Given the description of an element on the screen output the (x, y) to click on. 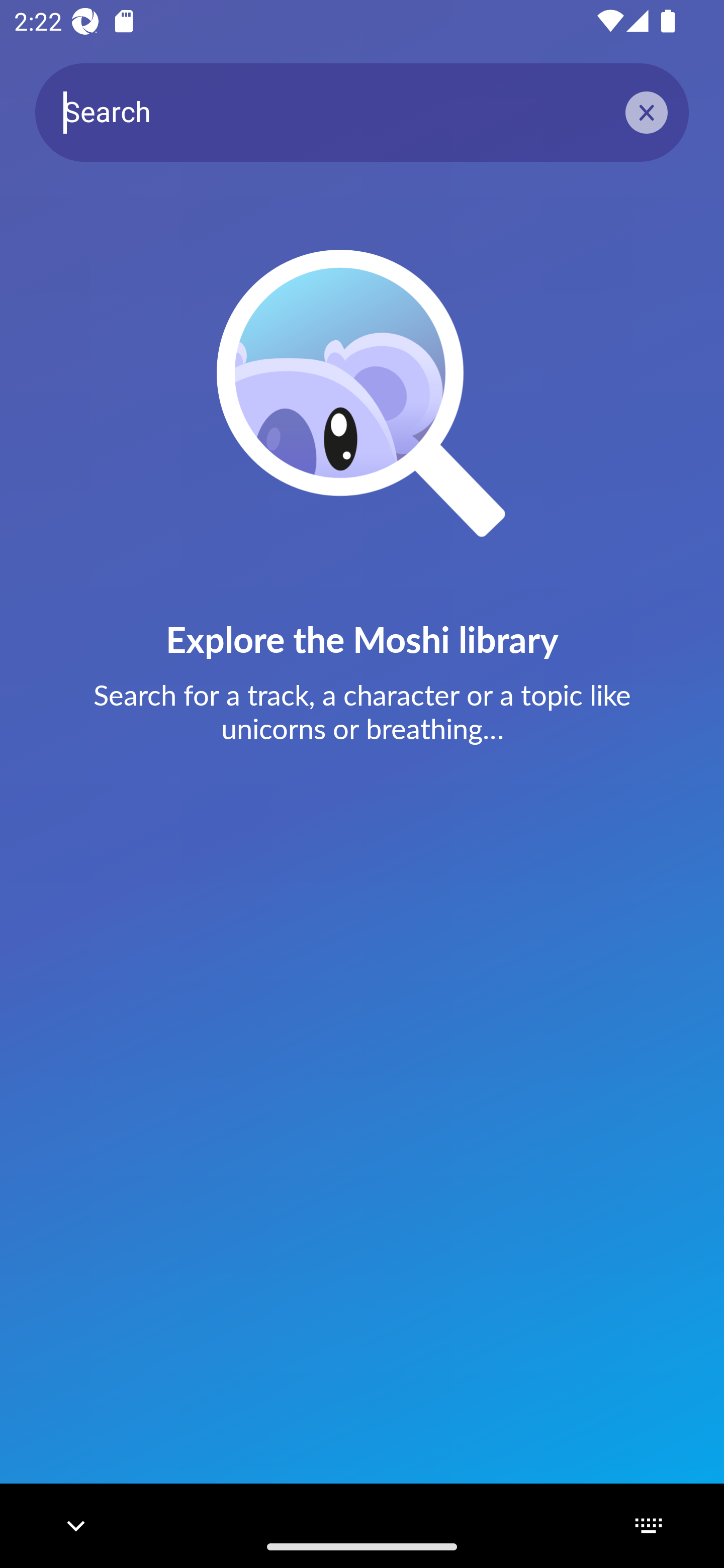
Search (361, 111)
